Given the description of an element on the screen output the (x, y) to click on. 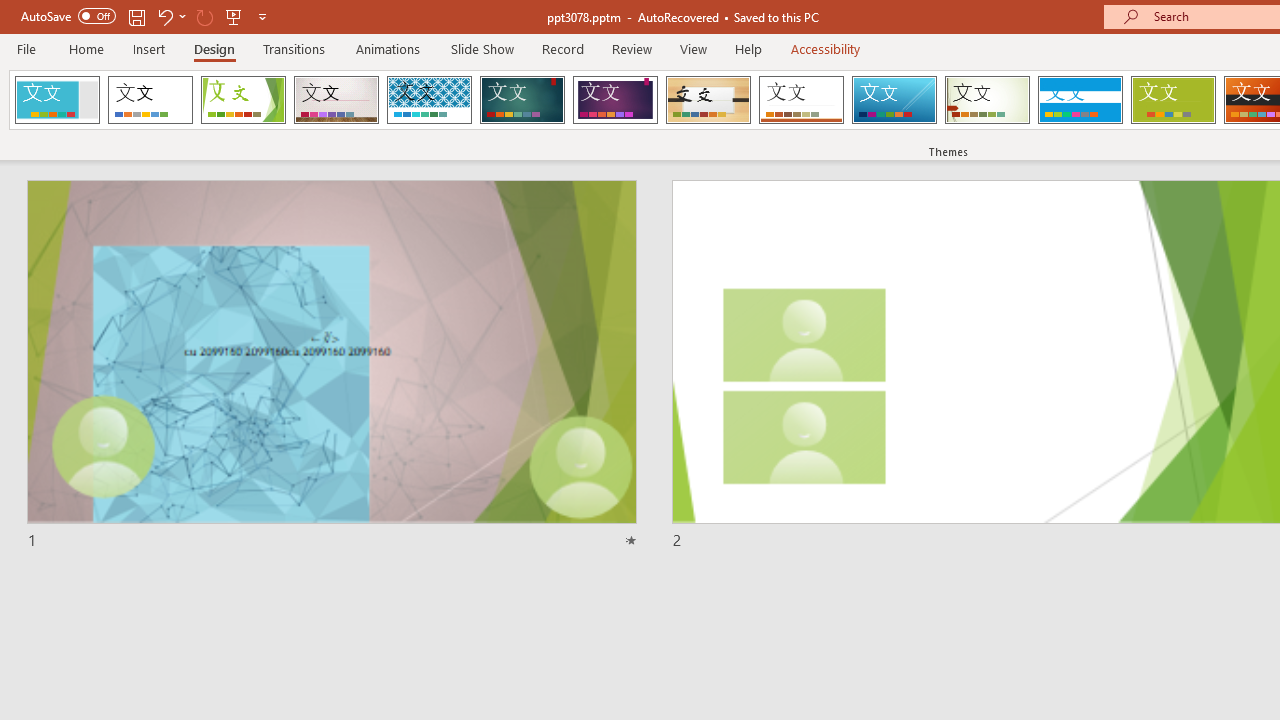
Ion (522, 100)
